Given the description of an element on the screen output the (x, y) to click on. 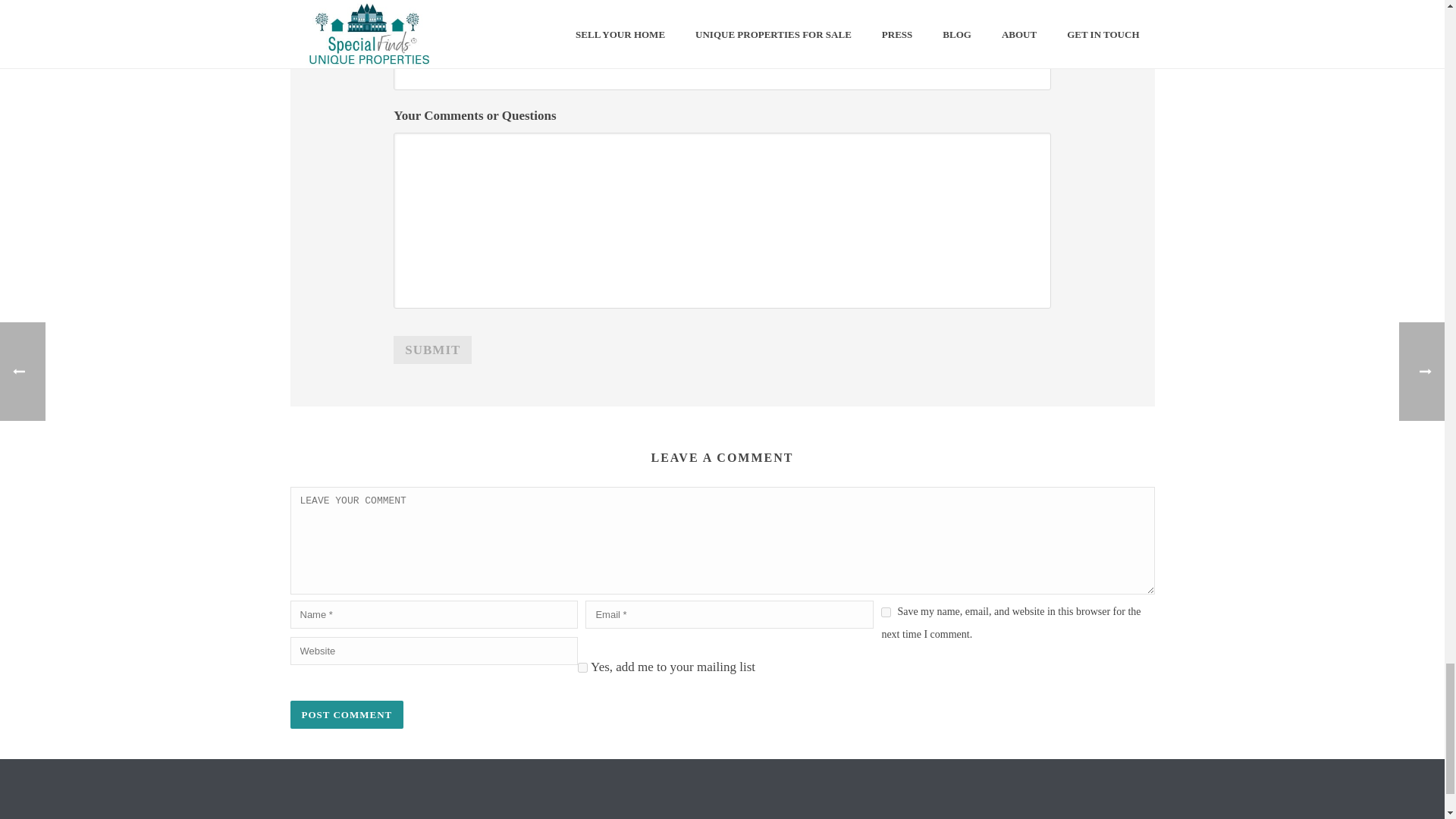
yes (885, 612)
1 (583, 667)
Submit (432, 349)
POST COMMENT (346, 714)
